Given the description of an element on the screen output the (x, y) to click on. 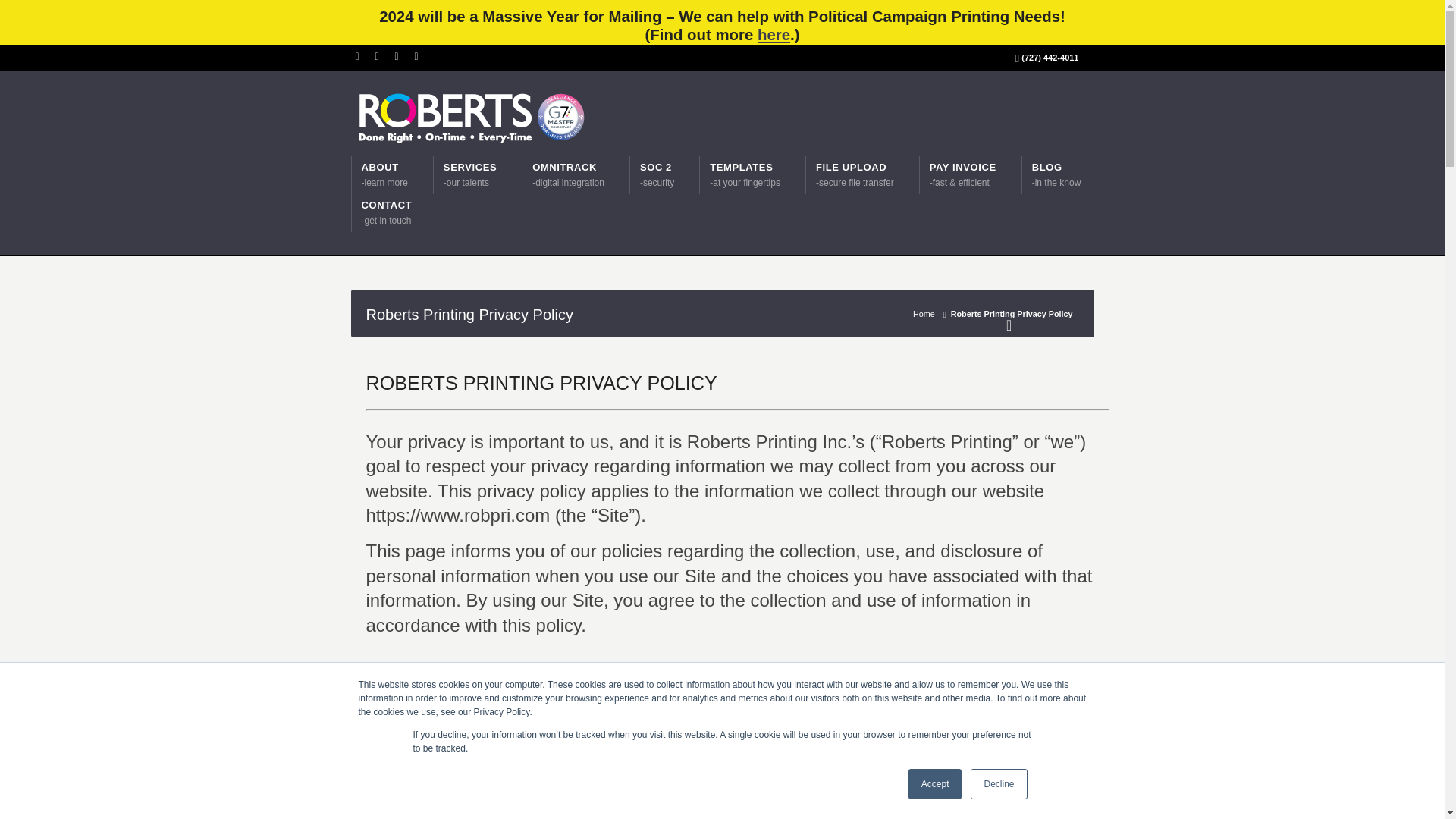
Accept (568, 173)
Home (935, 784)
Decline (854, 173)
here (1056, 173)
